Given the description of an element on the screen output the (x, y) to click on. 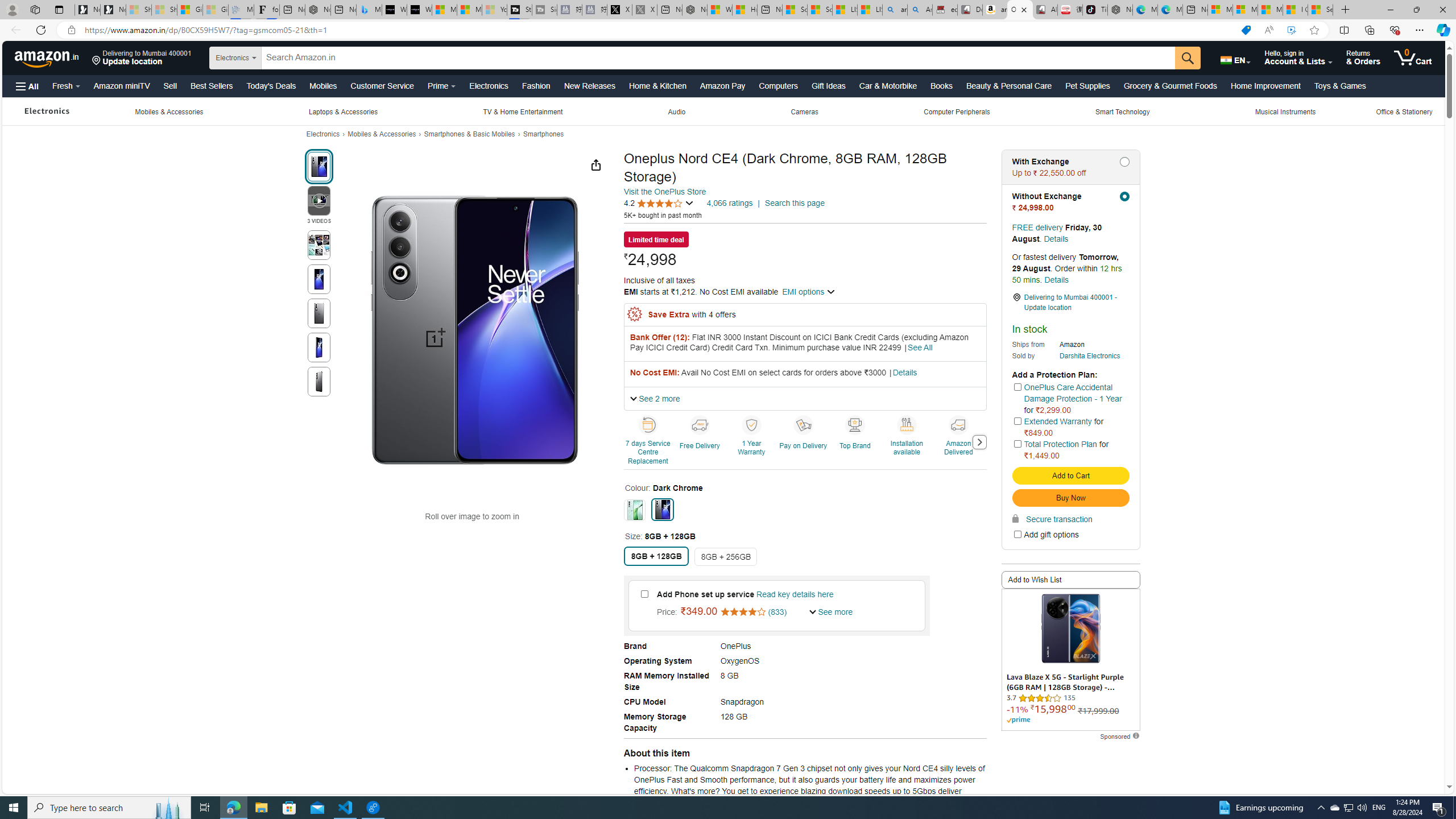
Free Delivery (701, 441)
|See All (917, 347)
All Cubot phones (1044, 9)
Total Protection Plan (1060, 443)
I Gained 20 Pounds of Muscle in 30 Days! | Watch (1295, 9)
Amazon Pay (722, 85)
Search Amazon.in (718, 57)
OnePlus Care Accidental Damage Protection - 1 Year (1072, 392)
See 2 more (653, 397)
Buy Now (1069, 497)
Home & Kitchen (657, 85)
